Given the description of an element on the screen output the (x, y) to click on. 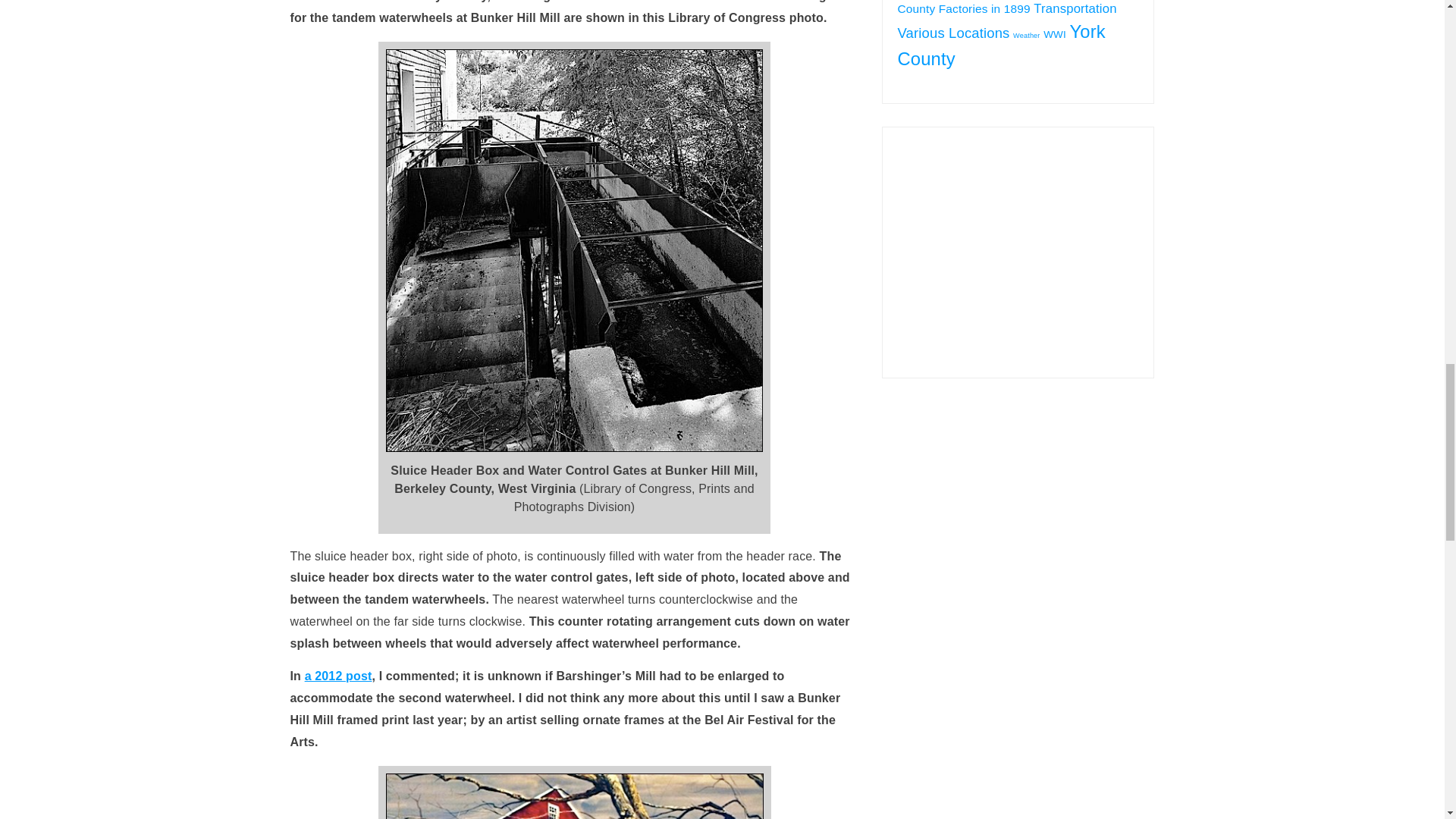
a 2012 post (338, 675)
